Given the description of an element on the screen output the (x, y) to click on. 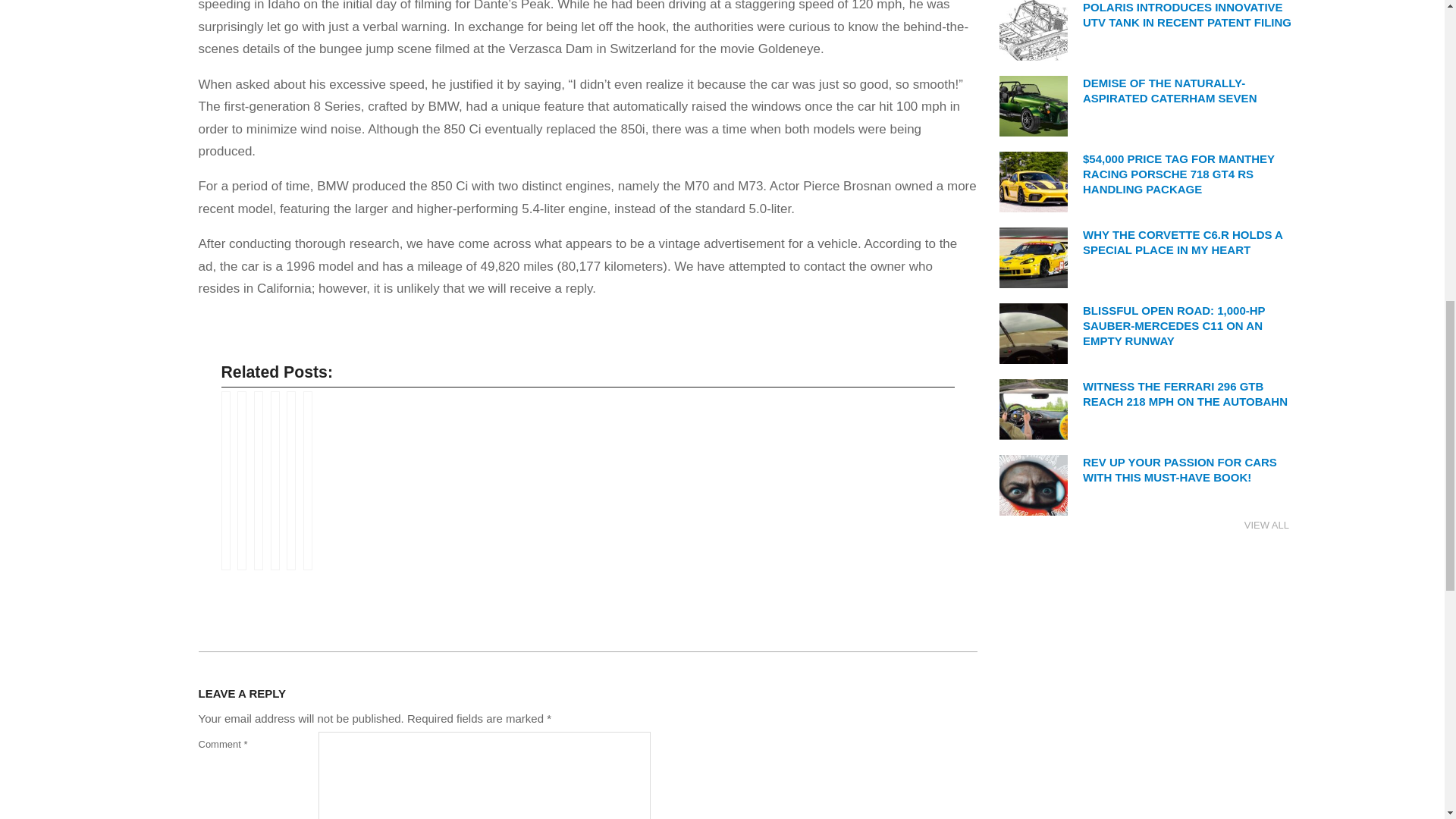
DEMISE OF THE NATURALLY-ASPIRATED CATERHAM SEVEN (1169, 90)
